Given the description of an element on the screen output the (x, y) to click on. 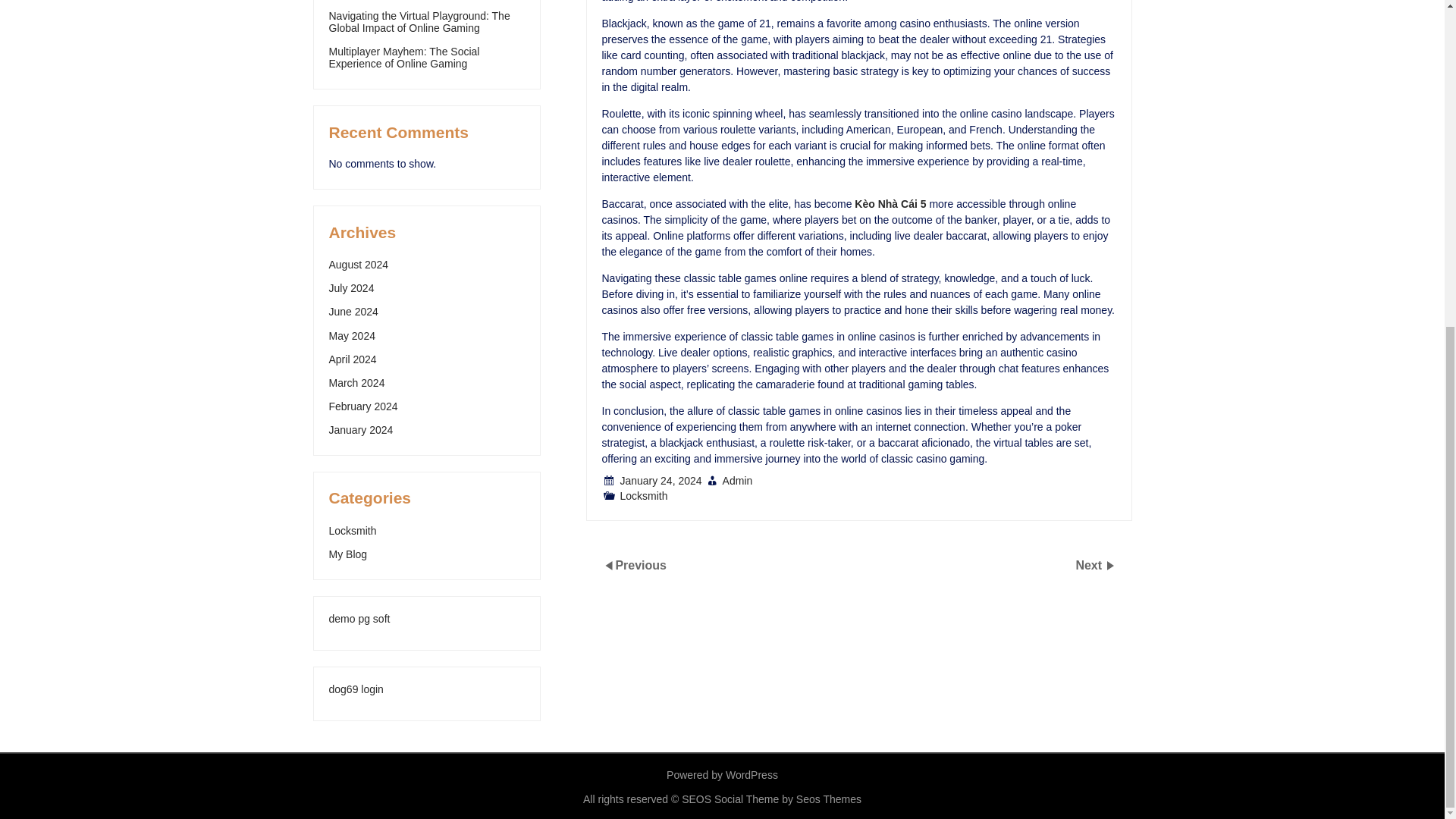
dog69 login (356, 689)
January 2024 (361, 429)
Seos Theme - SEOS Social (771, 799)
May 2024 (352, 336)
Powered by WordPress (721, 775)
My Blog (348, 553)
Previous (640, 563)
June 2024 (353, 311)
SEOS Social Theme by Seos Themes (771, 799)
April 2024 (353, 358)
